Given the description of an element on the screen output the (x, y) to click on. 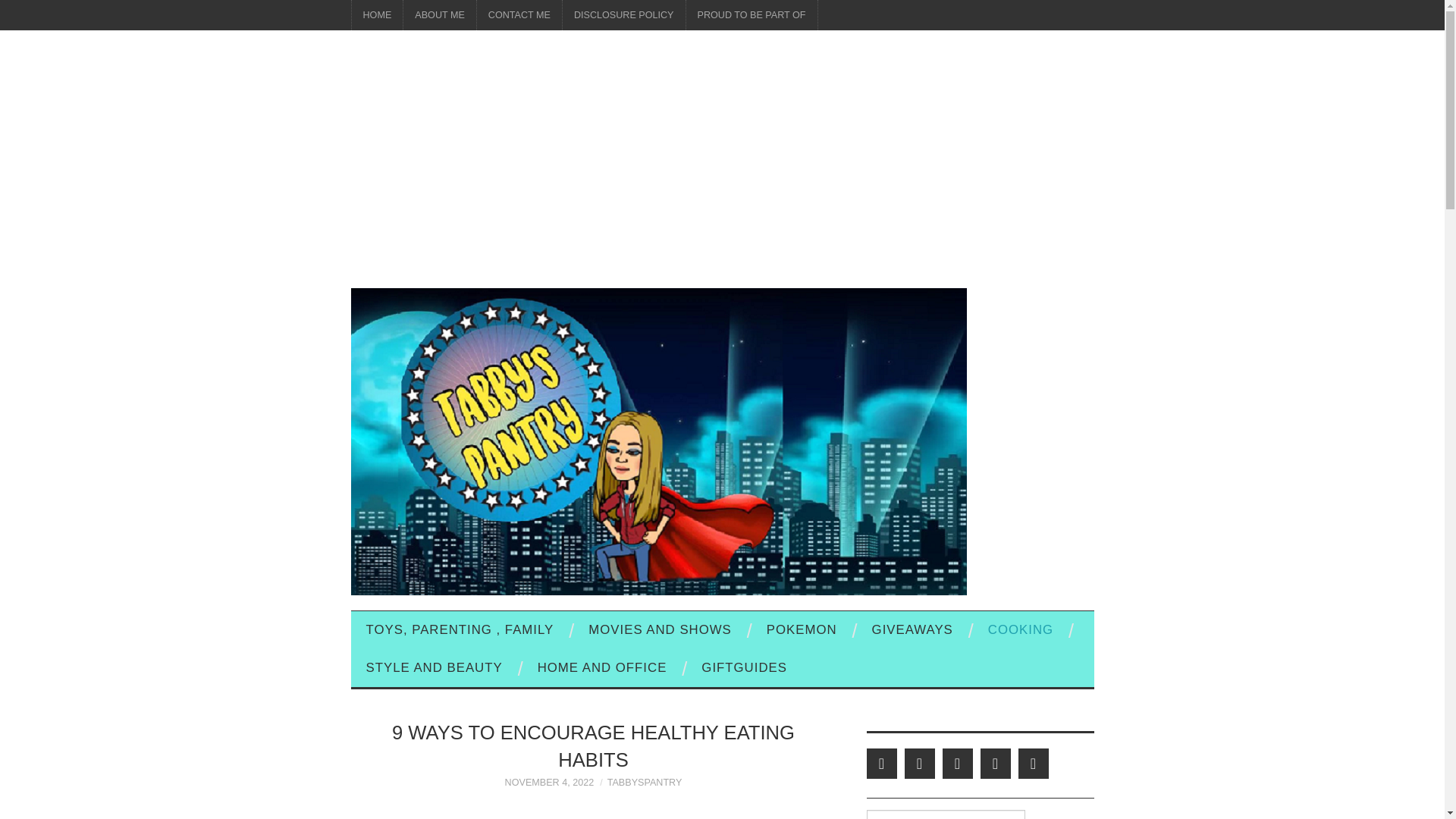
ABOUT ME (439, 15)
DISCLOSURE POLICY (623, 15)
Instagram (1032, 763)
TOYS, PARENTING , FAMILY (459, 629)
Pinterest (957, 763)
Tabbys Pantry (658, 440)
COOKING (1020, 629)
STYLE AND BEAUTY (433, 668)
GIVEAWAYS (912, 629)
HOME AND OFFICE (602, 668)
